Given the description of an element on the screen output the (x, y) to click on. 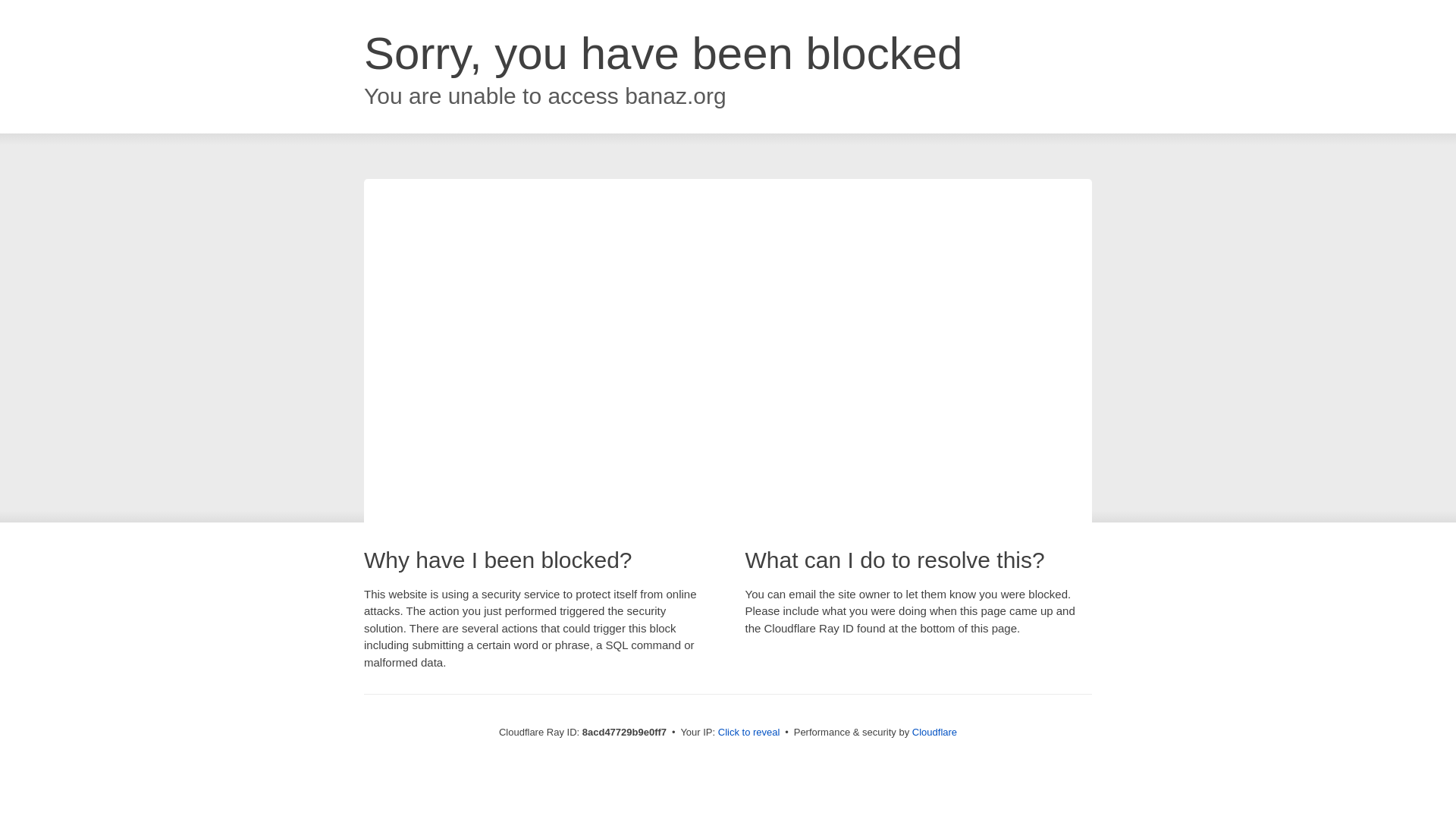
Cloudflare (934, 731)
Click to reveal (748, 732)
